Given the description of an element on the screen output the (x, y) to click on. 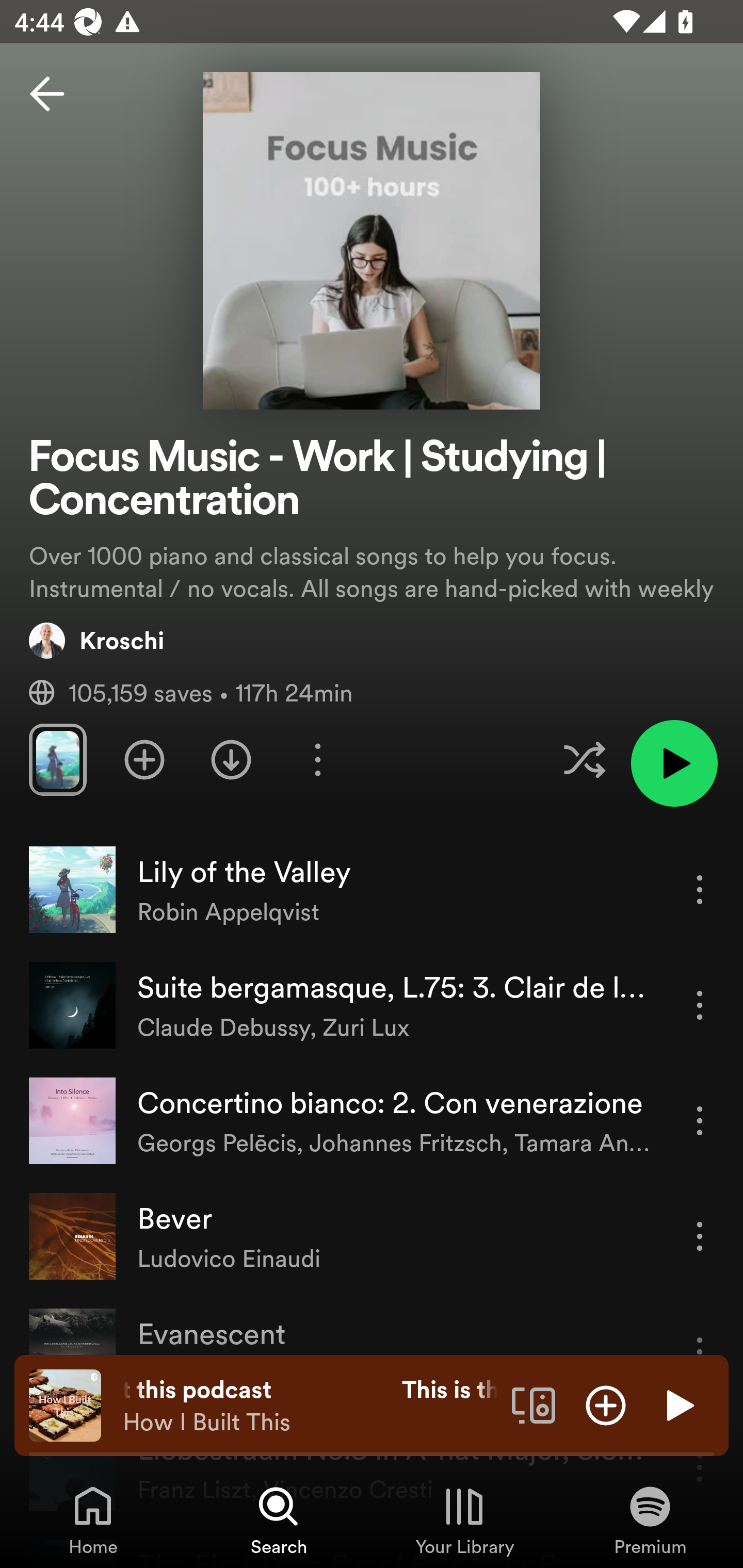
Back (46, 93)
Kroschi (96, 640)
Swipe through previews of tracks in this playlist. (57, 759)
Add playlist to Your Library (144, 759)
Download (230, 759)
Enable shuffle for this playlist (583, 759)
Play playlist (674, 763)
More options for song Lily of the Valley (699, 889)
Bever Ludovico Einaudi More options for song Bever (371, 1236)
More options for song Bever (699, 1236)
The cover art of the currently playing track (64, 1404)
Connect to a device. Opens the devices menu (533, 1404)
Add item (605, 1404)
Play (677, 1404)
Home, Tab 1 of 4 Home Home (92, 1519)
Search, Tab 2 of 4 Search Search (278, 1519)
Your Library, Tab 3 of 4 Your Library Your Library (464, 1519)
Premium, Tab 4 of 4 Premium Premium (650, 1519)
